Given the description of an element on the screen output the (x, y) to click on. 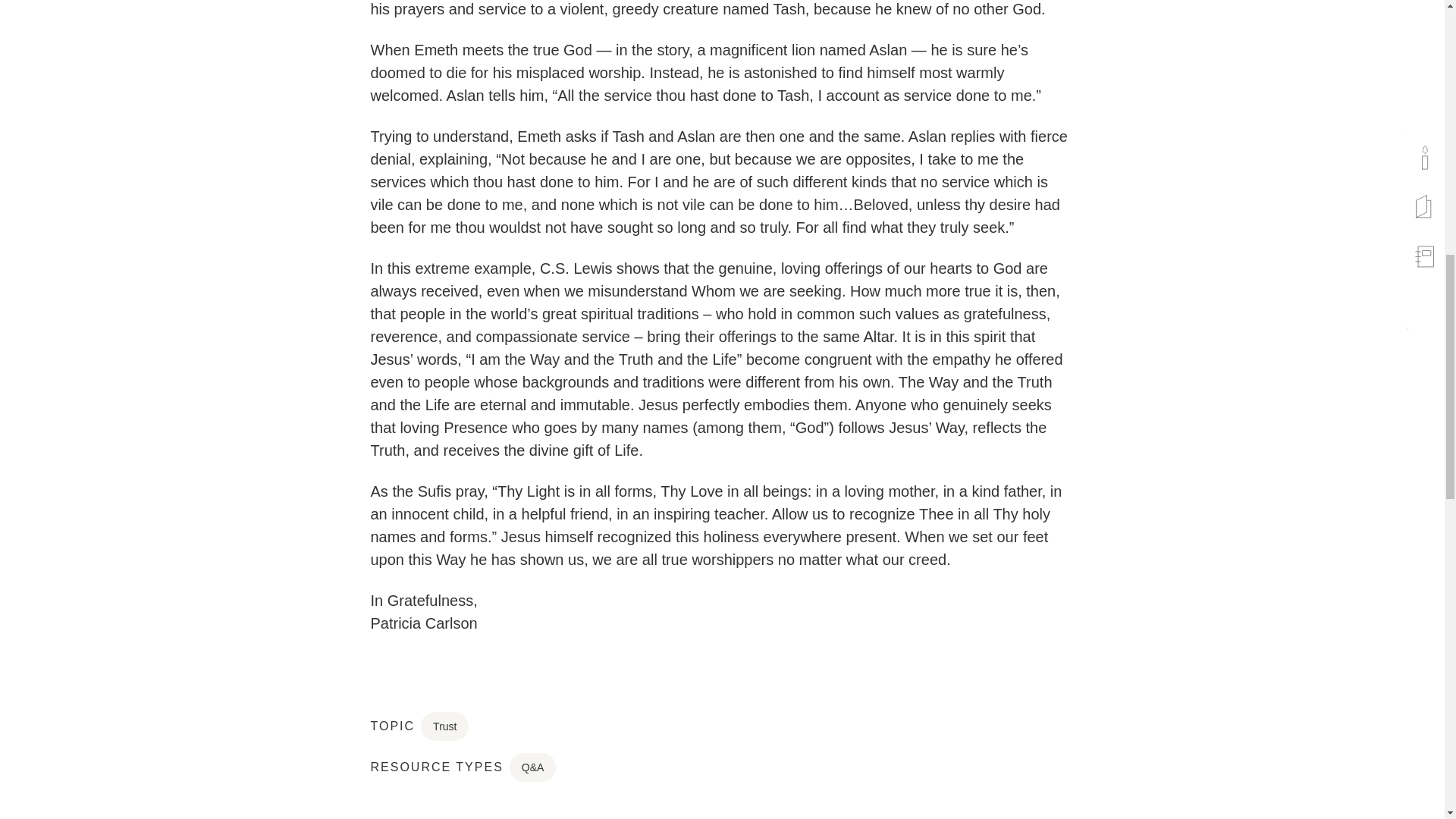
Trust (444, 726)
